Given the description of an element on the screen output the (x, y) to click on. 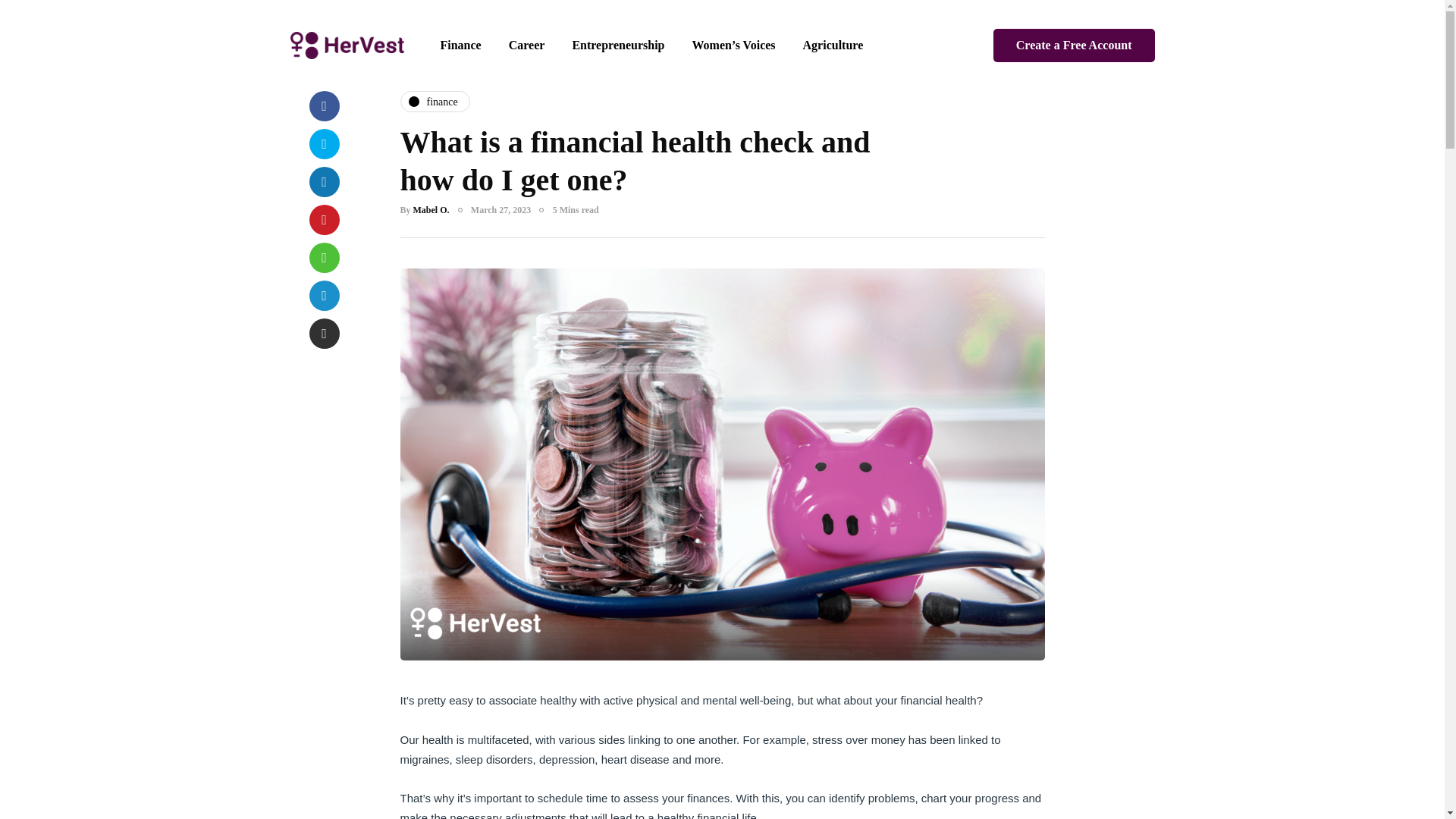
Finance (460, 45)
Share with LinkedIn (323, 182)
Tweet this (323, 143)
Mabel O. (431, 209)
Share with Facebook (323, 105)
finance (435, 101)
Create a Free Account (1073, 45)
Entrepreneurship (617, 45)
Agriculture (833, 45)
Share to Telegram (323, 295)
Pin this (323, 219)
Posts by Mabel O. (431, 209)
Career (527, 45)
Share by Email (323, 333)
Share to WhatsApp (323, 257)
